Given the description of an element on the screen output the (x, y) to click on. 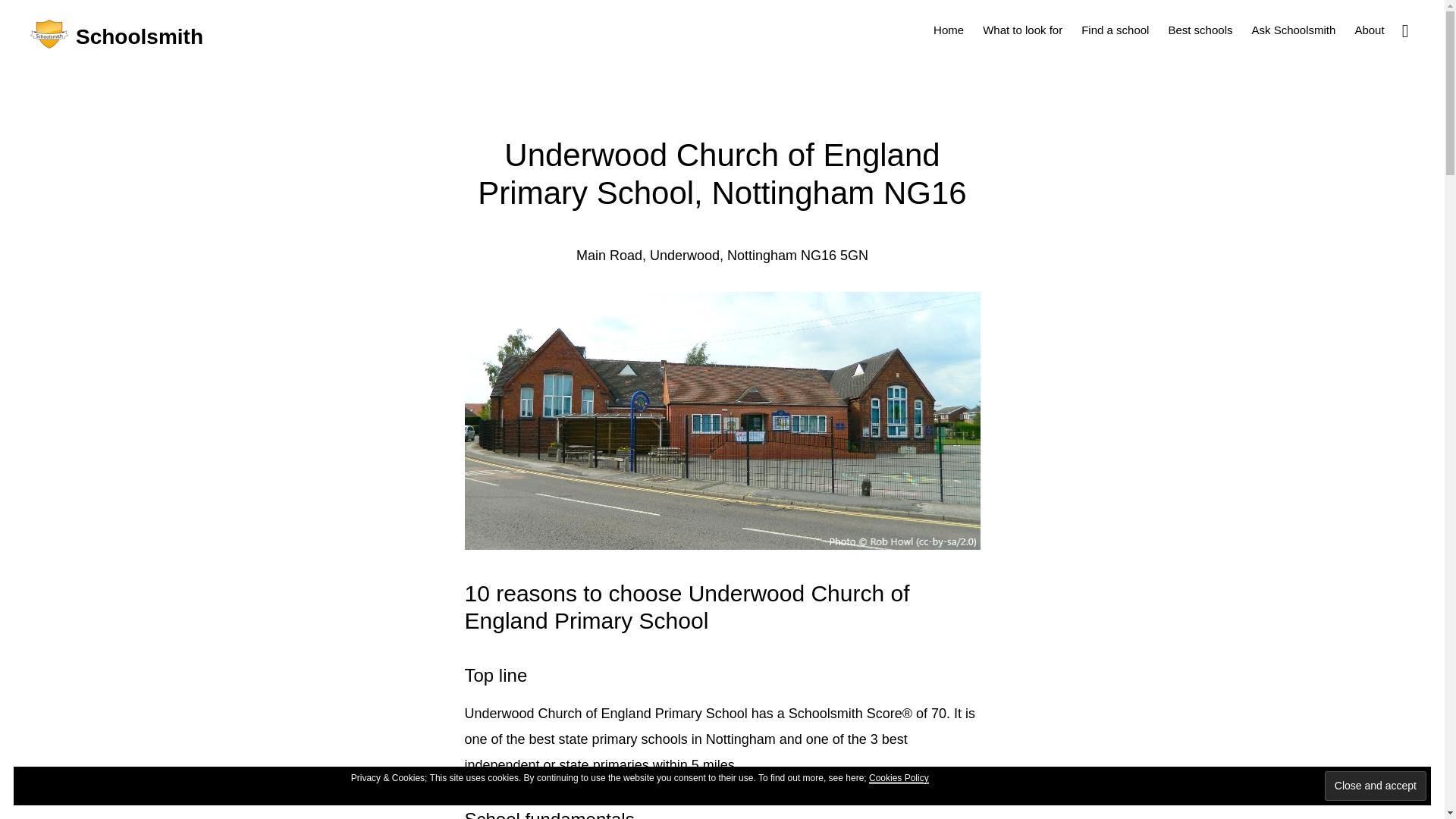
Home (948, 29)
About (1368, 29)
Ask Schoolsmith (1292, 29)
Best schools (1200, 29)
What to look for (1022, 29)
Schoolsmith (139, 36)
Close and accept (1375, 785)
Find a school (1115, 29)
